Given the description of an element on the screen output the (x, y) to click on. 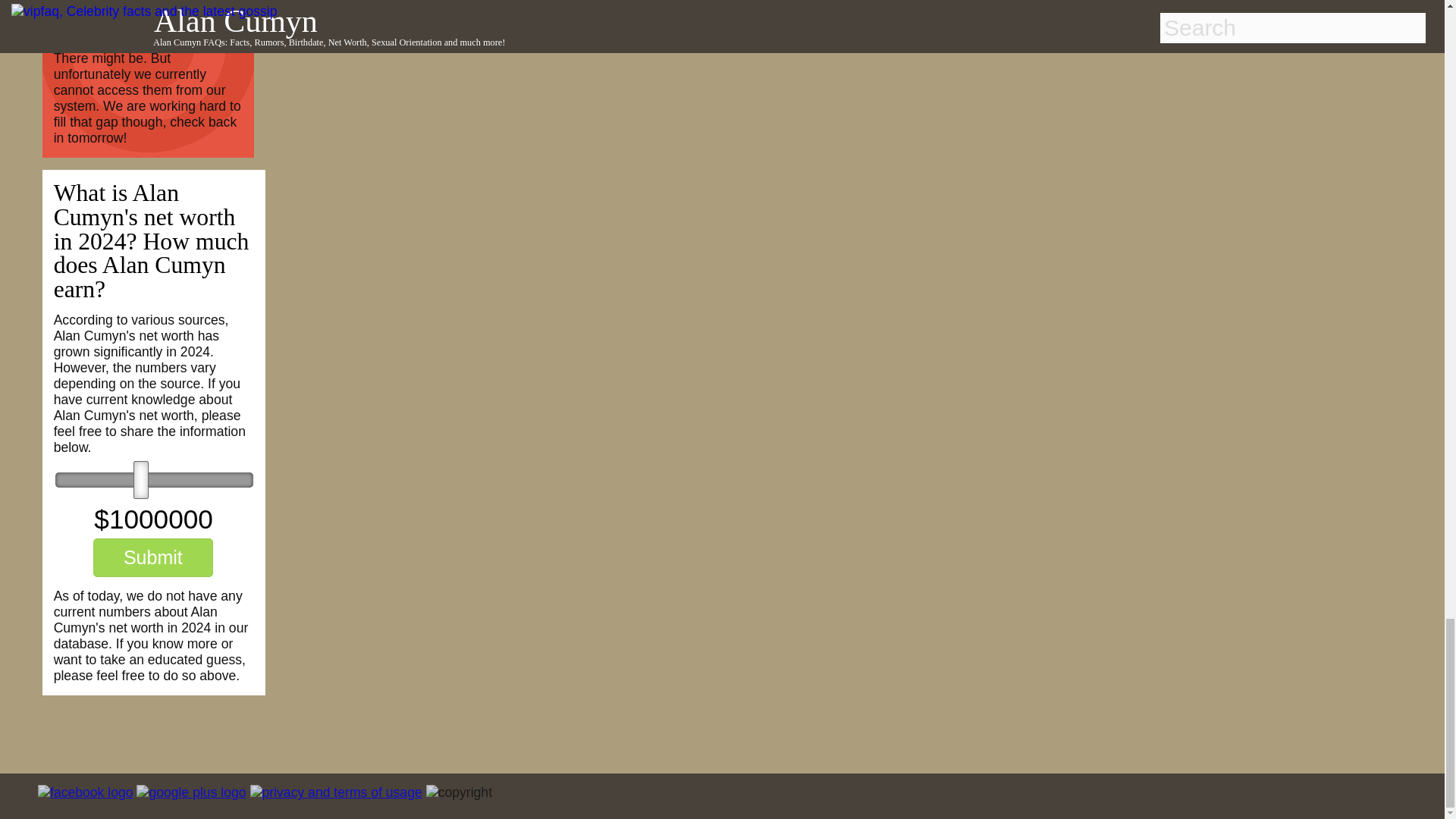
6 (154, 479)
Submit (152, 557)
